Given the description of an element on the screen output the (x, y) to click on. 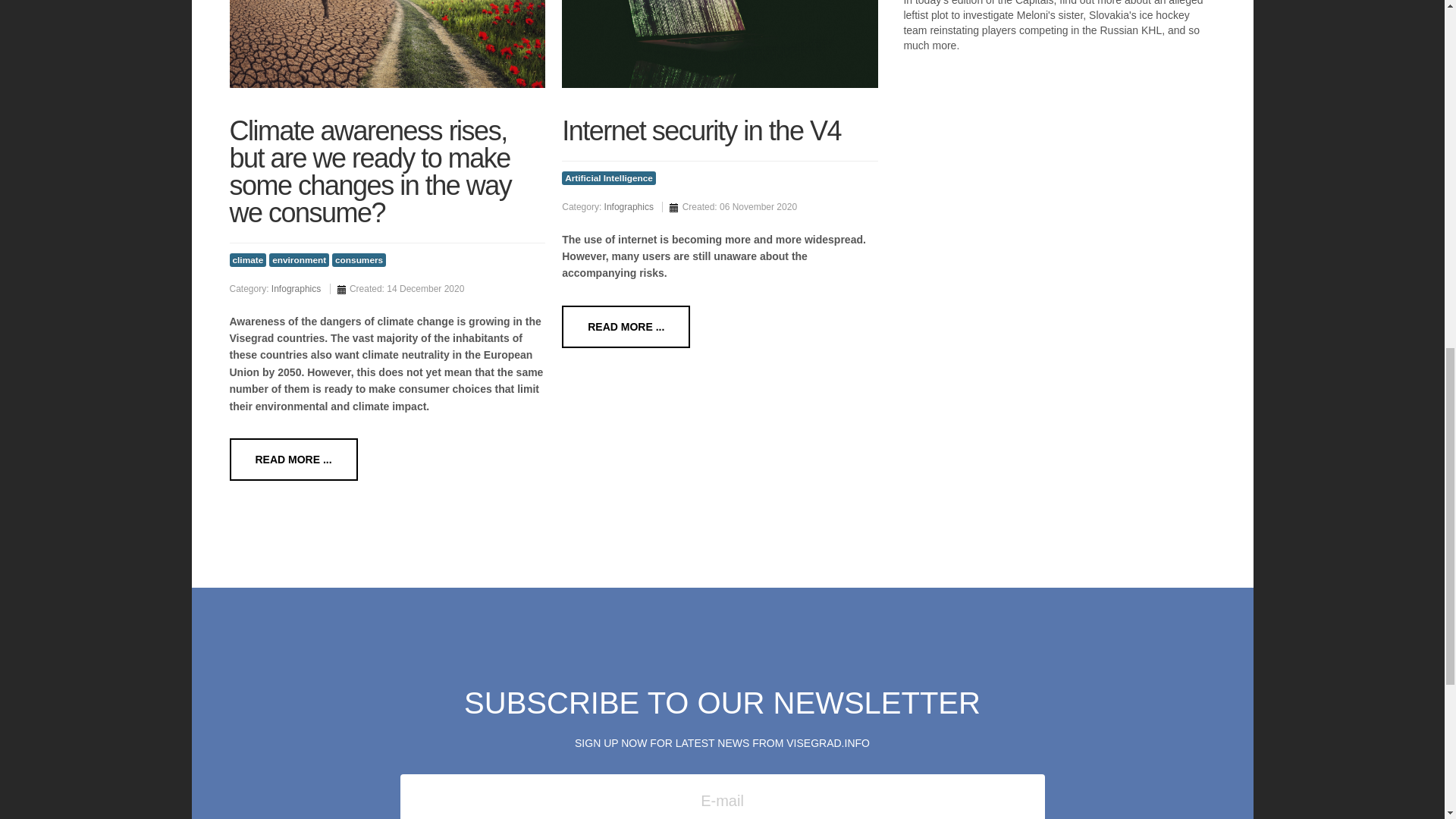
E-mail (722, 796)
Internet security in the V4 (701, 124)
Artificial Intelligence (609, 178)
E-mail (722, 796)
environment (299, 259)
Infographics (628, 206)
consumers (358, 259)
READ MORE ... (626, 326)
Infographics (295, 288)
